Given the description of an element on the screen output the (x, y) to click on. 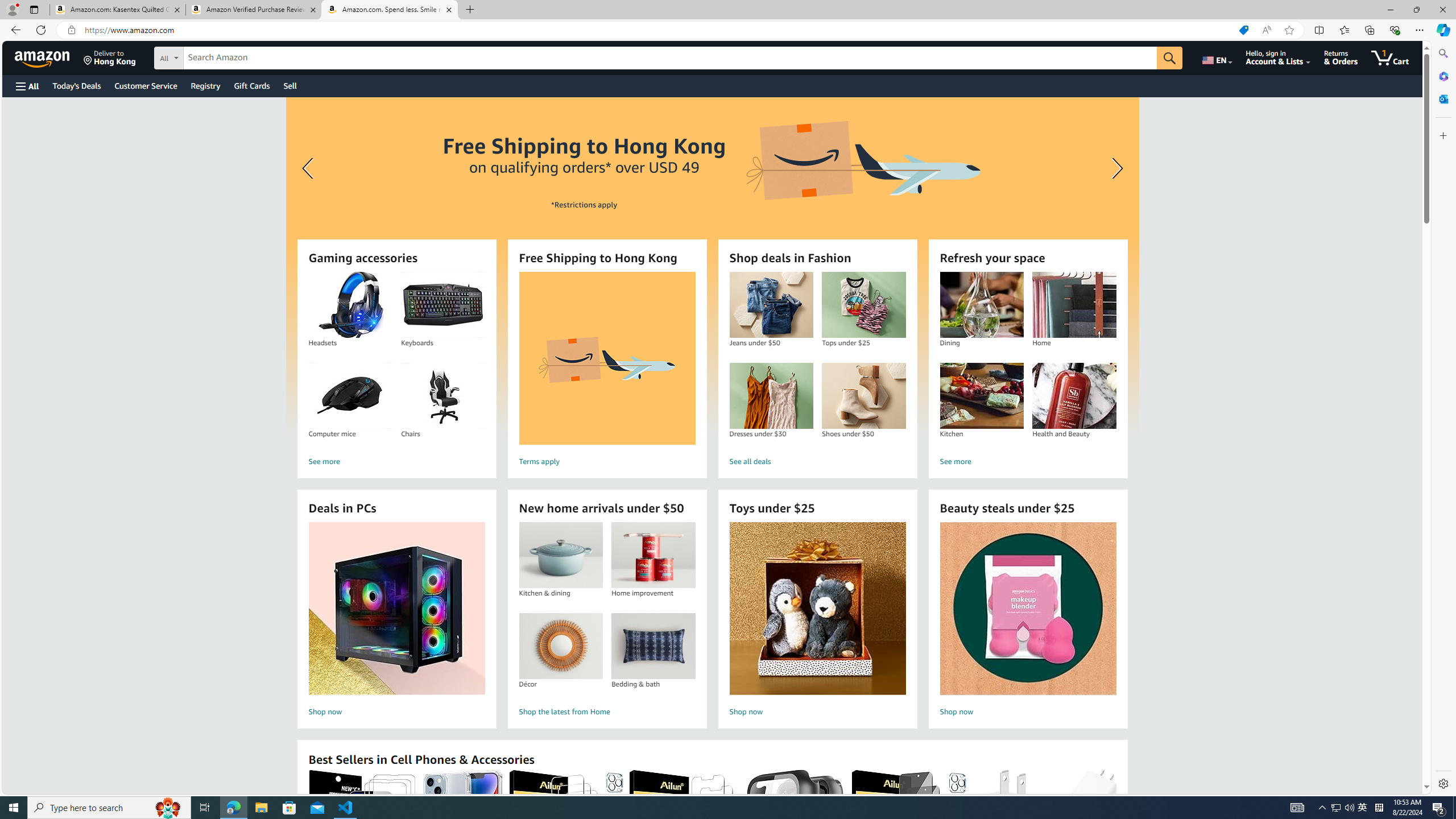
Shopping in Microsoft Edge (1243, 29)
Side bar (1443, 418)
Free Shipping to Hong Kong (606, 357)
Chairs (443, 395)
Tops under $25 (863, 304)
1 item in cart (1389, 57)
